Given the description of an element on the screen output the (x, y) to click on. 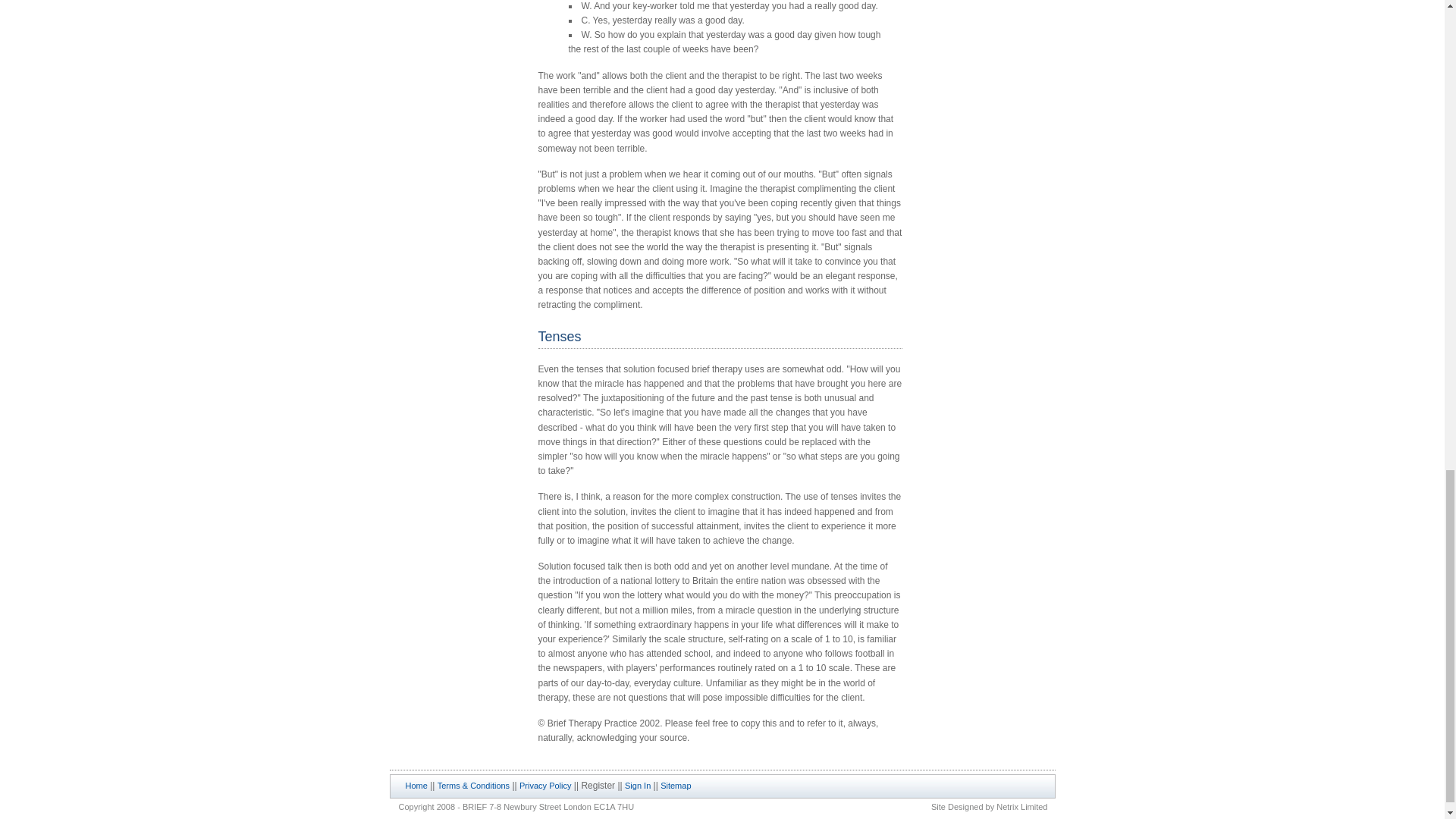
Sign In (637, 785)
Home (415, 785)
Sitemap (675, 785)
Privacy Policy (544, 785)
